Given the description of an element on the screen output the (x, y) to click on. 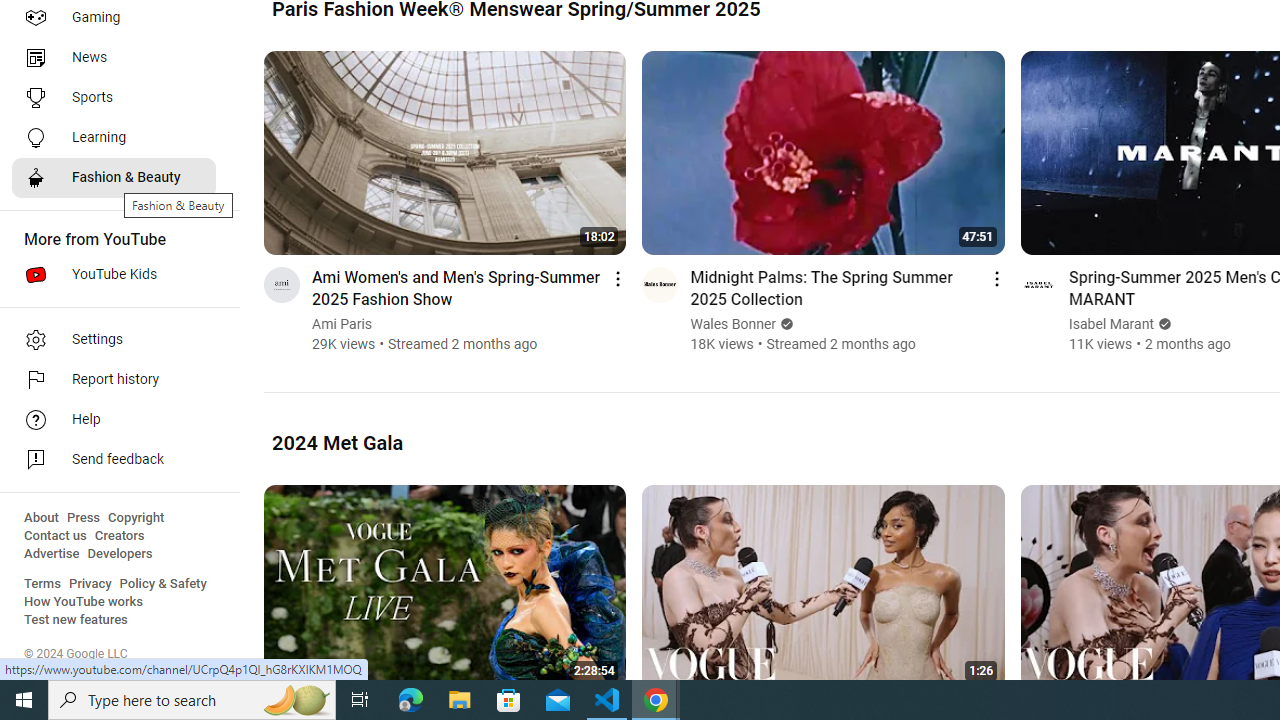
About (41, 518)
News (113, 57)
Developers (120, 554)
Learning (113, 137)
Test new features (76, 620)
Send feedback (113, 459)
Sports (113, 97)
Terms (42, 584)
Contact us (55, 536)
Privacy (89, 584)
2024 Met Gala (337, 442)
Press (83, 518)
Fashion & Beauty (113, 177)
Policy & Safety (163, 584)
How YouTube works (83, 602)
